Given the description of an element on the screen output the (x, y) to click on. 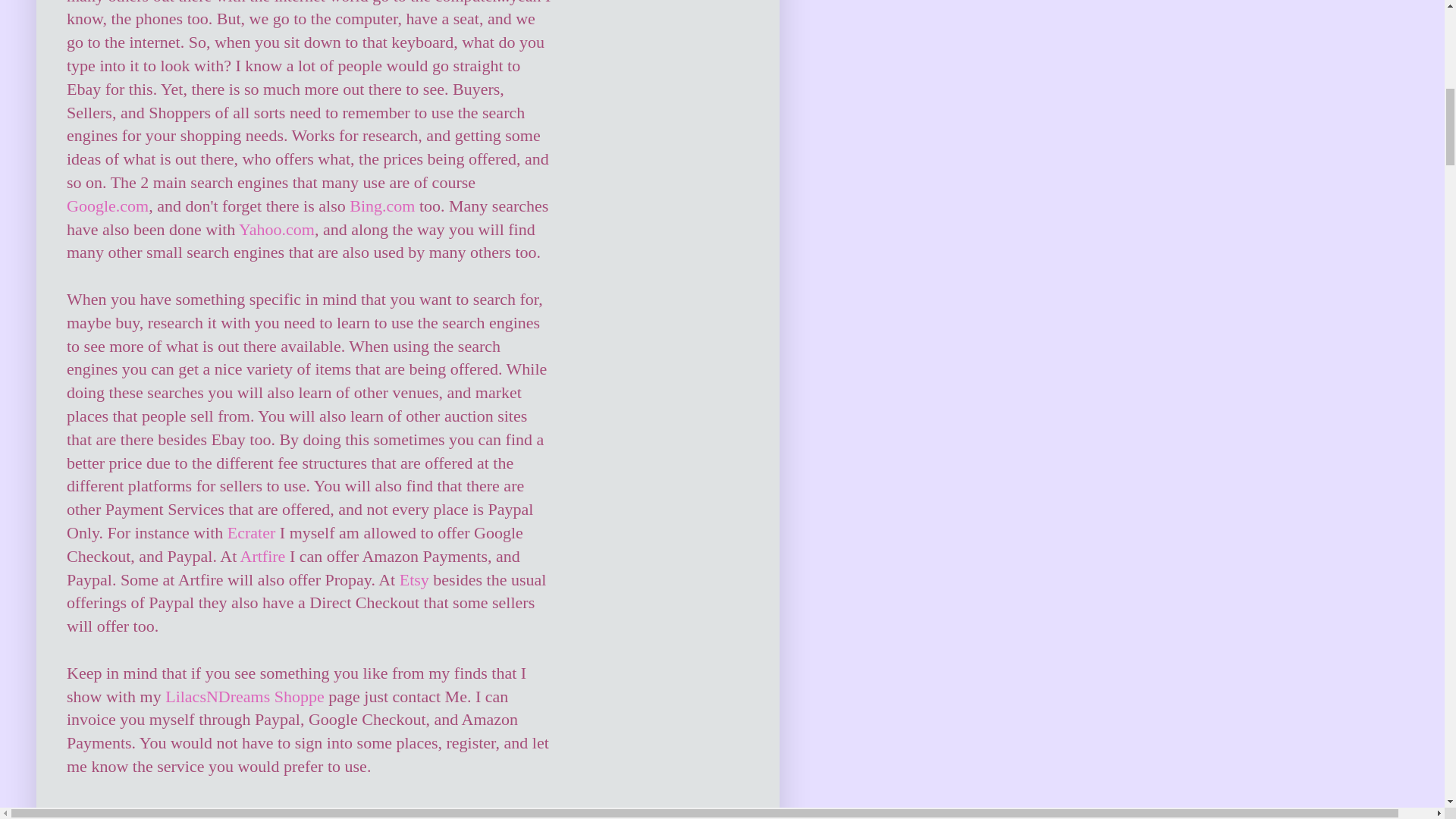
LilacsNDreams Shoppe (244, 696)
Bing.com (381, 205)
Ecrater (251, 532)
Yahoo.com (276, 229)
Google.com (107, 205)
Etsy (413, 579)
Artfire (262, 556)
